Given the description of an element on the screen output the (x, y) to click on. 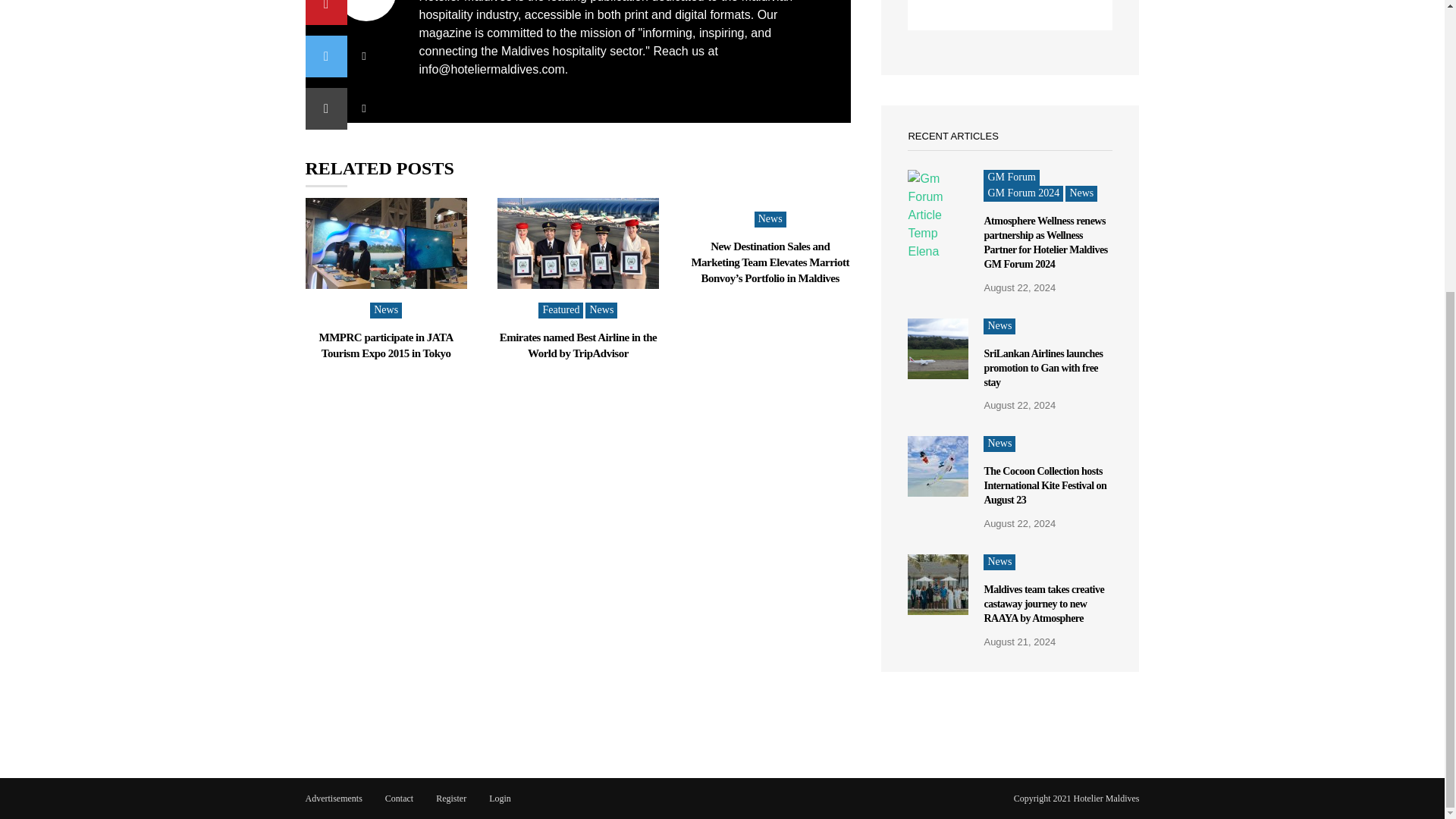
Featured (560, 310)
News (601, 310)
News (385, 310)
MMPRC participate in JATA Tourism Expo 2015 in Tokyo (385, 345)
